Given the description of an element on the screen output the (x, y) to click on. 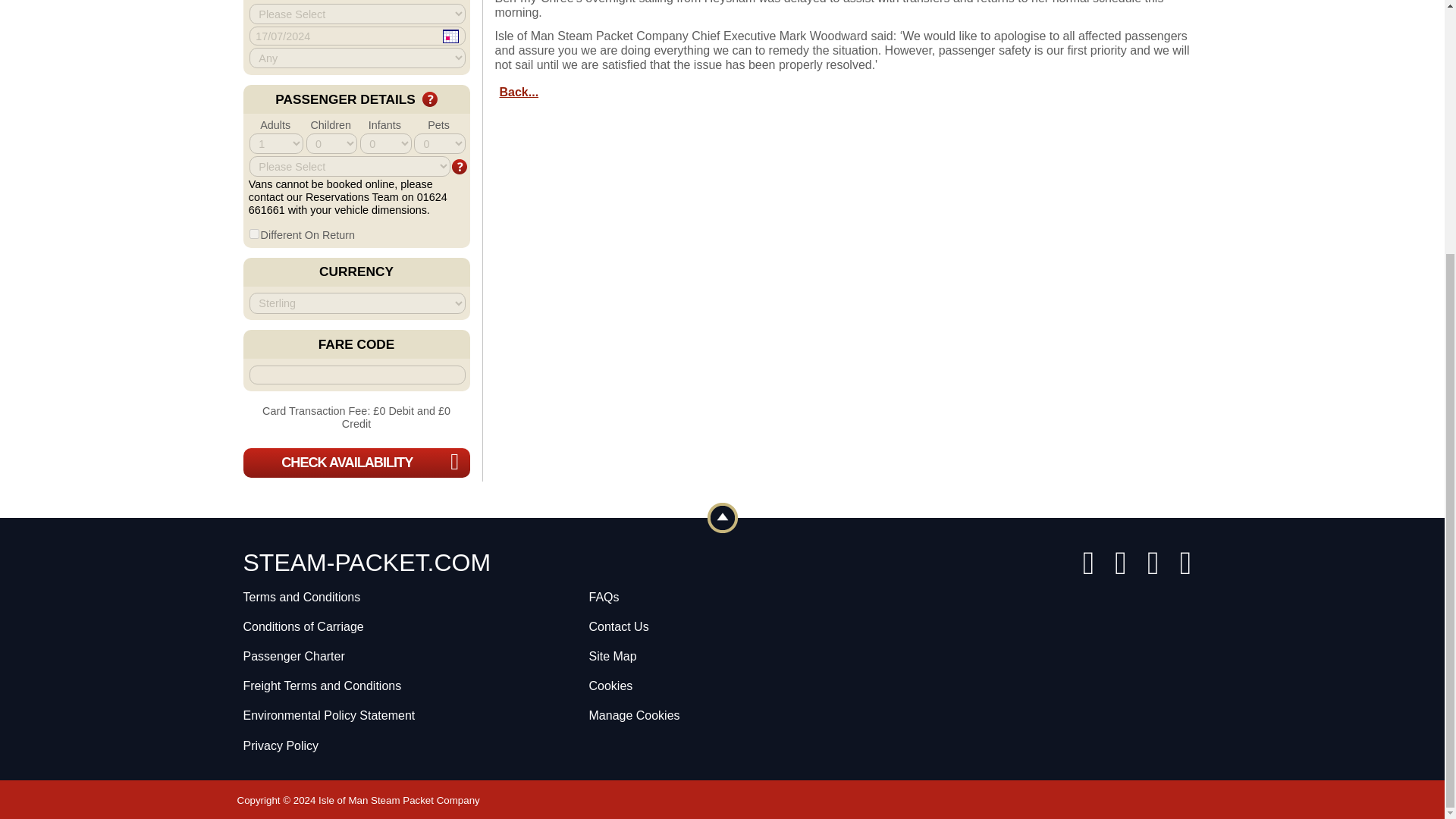
Check Availability (355, 462)
True (253, 234)
Select Date (450, 36)
